Given the description of an element on the screen output the (x, y) to click on. 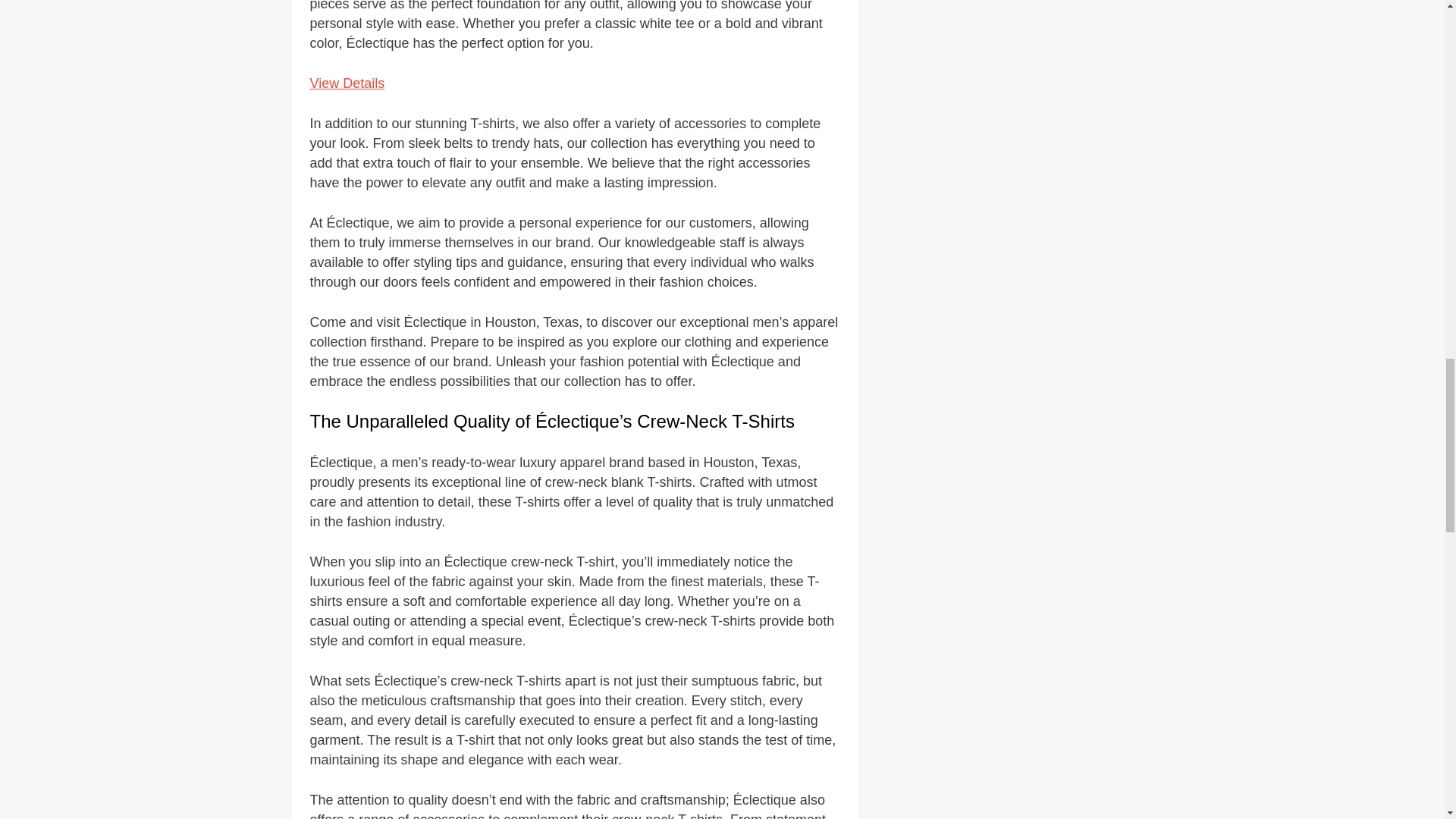
View Details (346, 83)
